Given the description of an element on the screen output the (x, y) to click on. 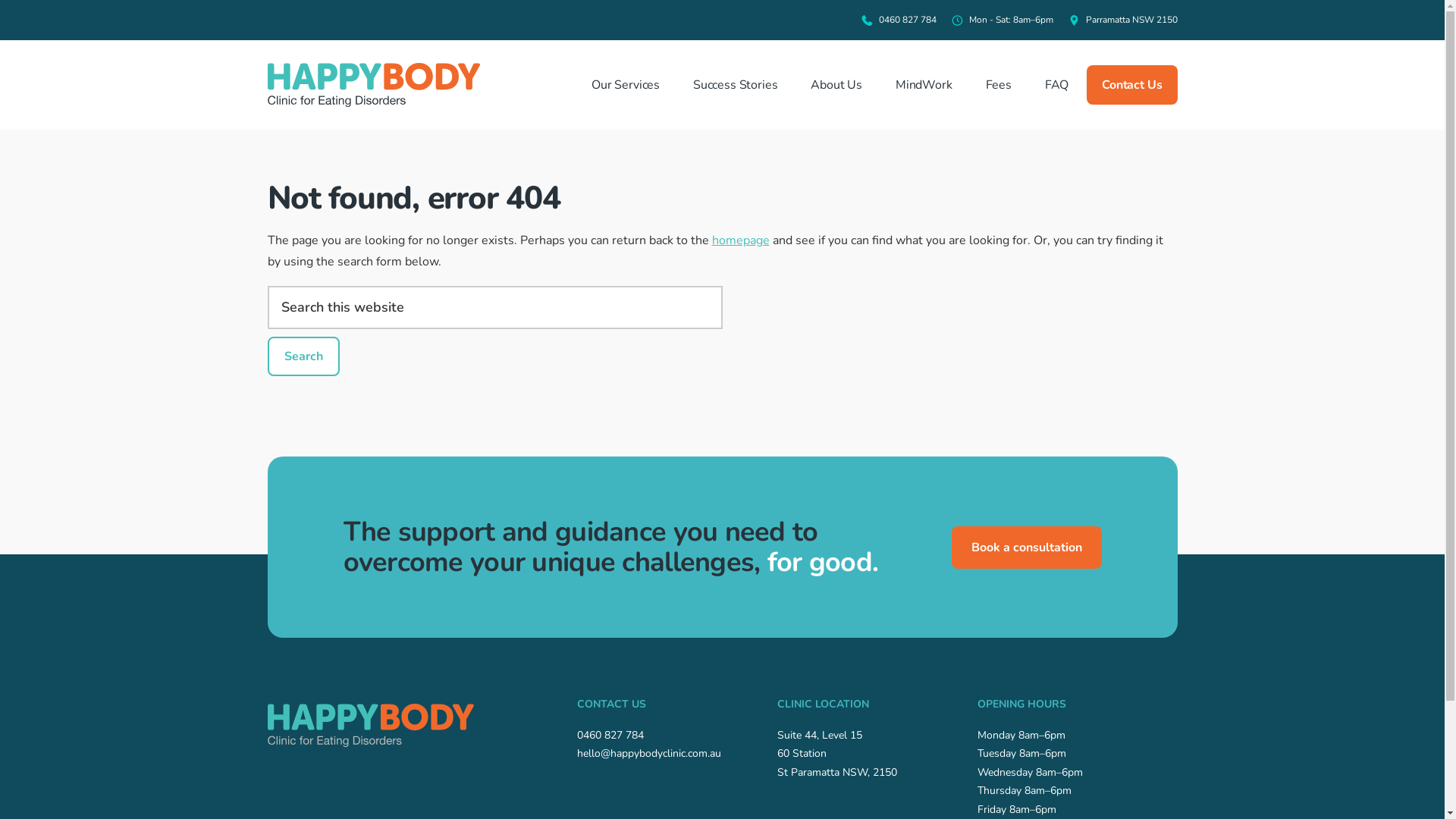
FAQ Element type: text (1056, 84)
hello@happybodyclinic.com.au Element type: text (648, 753)
Fees Element type: text (998, 84)
Skip to main content Element type: text (0, 0)
MindWork Element type: text (923, 84)
Success Stories Element type: text (735, 84)
Search Element type: text (302, 356)
Book a consultation Element type: text (1025, 547)
About Us Element type: text (836, 84)
0460 827 784 Element type: text (609, 735)
homepage Element type: text (739, 240)
Contact Us Element type: text (1131, 84)
0460 827 784 Element type: text (906, 20)
Our Services Element type: text (625, 84)
